Given the description of an element on the screen output the (x, y) to click on. 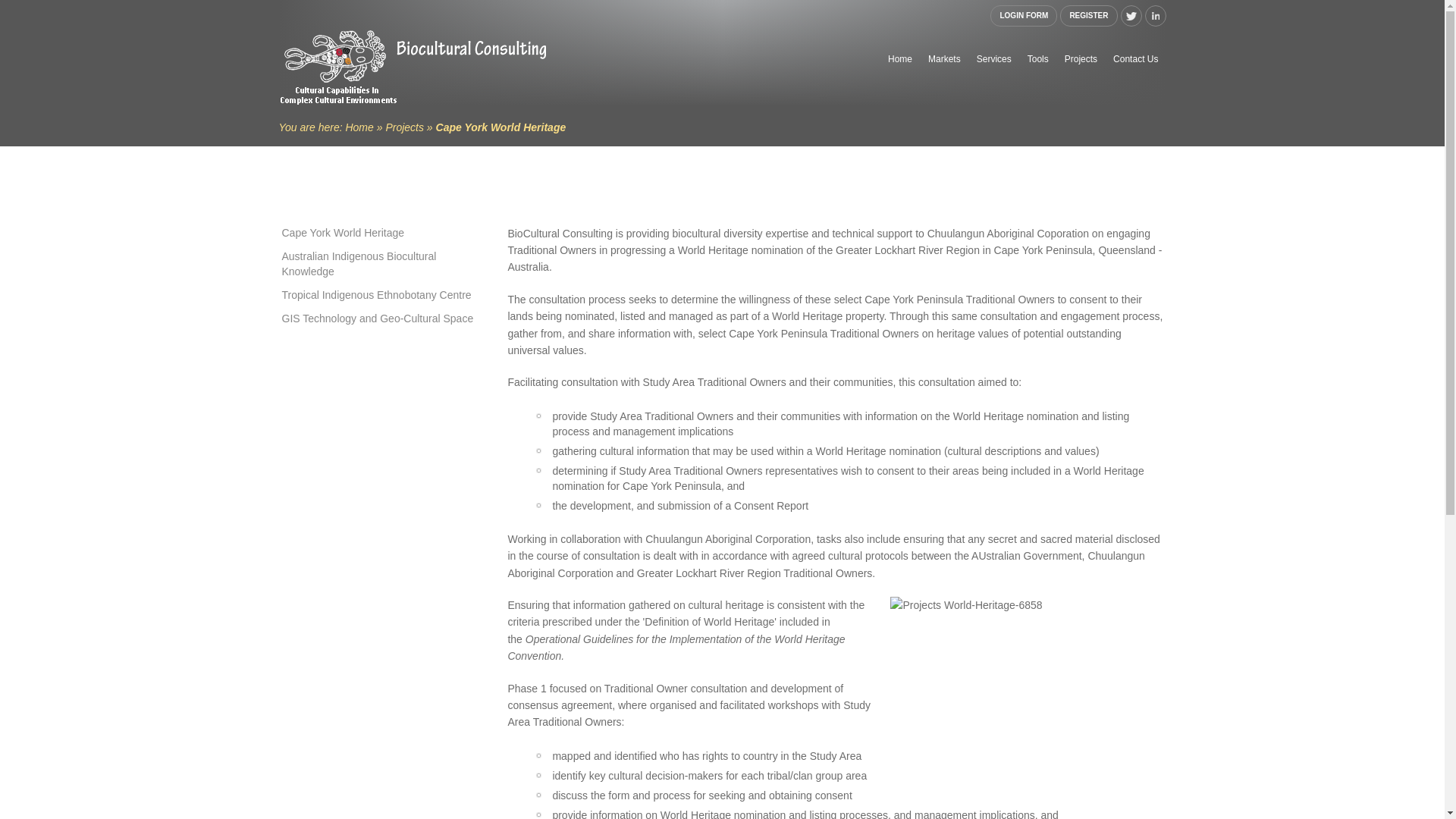
Linkedin (1155, 15)
REGISTER (1087, 15)
Twitter (1131, 15)
Projects (404, 127)
Contact Us (1135, 58)
Home (358, 127)
Follow Us (1131, 15)
Cape York World Heritage (383, 232)
LOGIN FORM (1023, 15)
Linkedin (1155, 15)
